Given the description of an element on the screen output the (x, y) to click on. 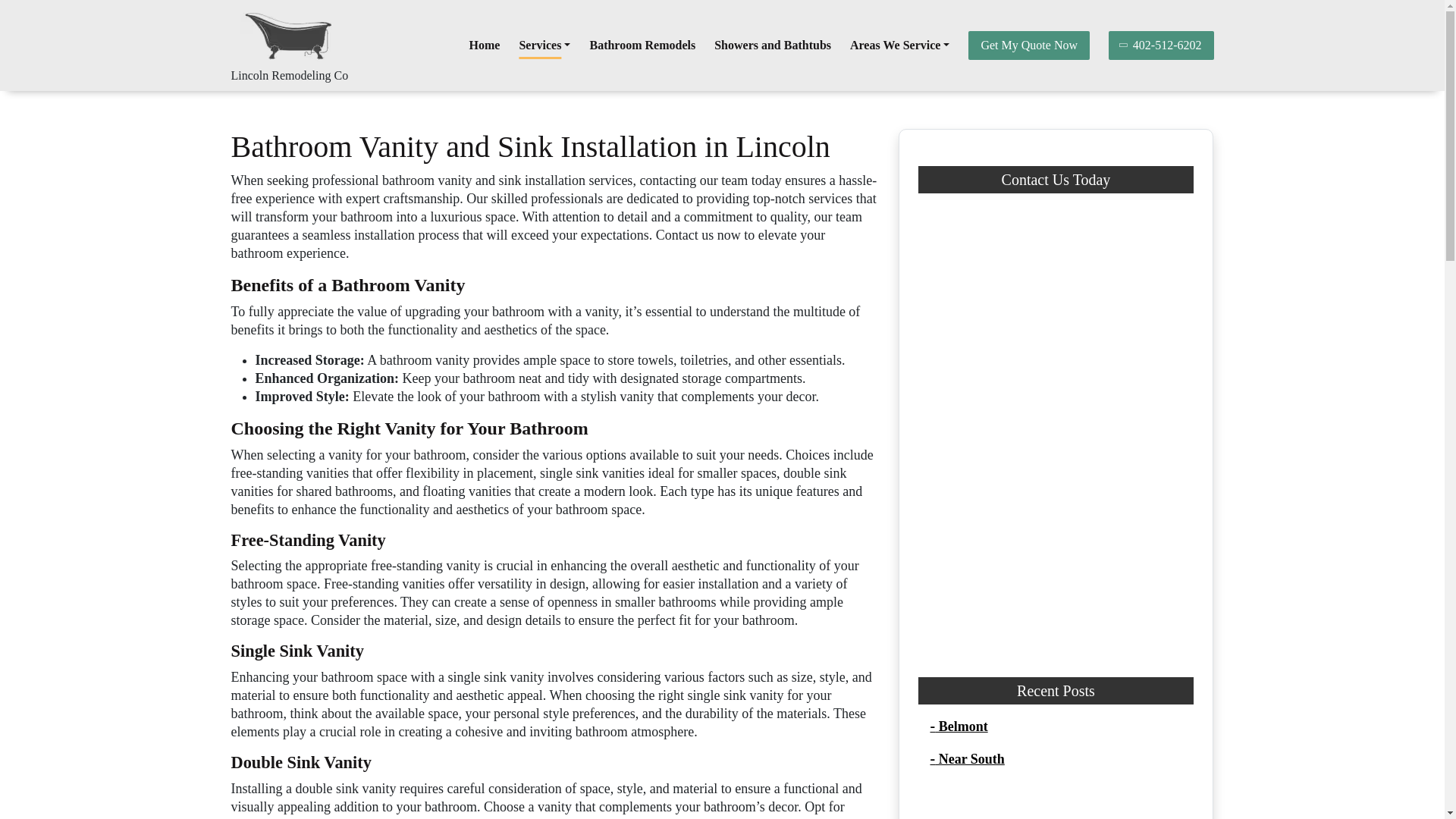
Services (544, 45)
Bathroom Remodels (642, 45)
- Near South (967, 758)
Get My Quote Now (1028, 45)
Areas We Service (899, 45)
Home (484, 45)
- Belmont (958, 726)
Areas We Service (899, 45)
Showers and Bathtubs (772, 45)
Showers and Bathtubs (772, 45)
